Given the description of an element on the screen output the (x, y) to click on. 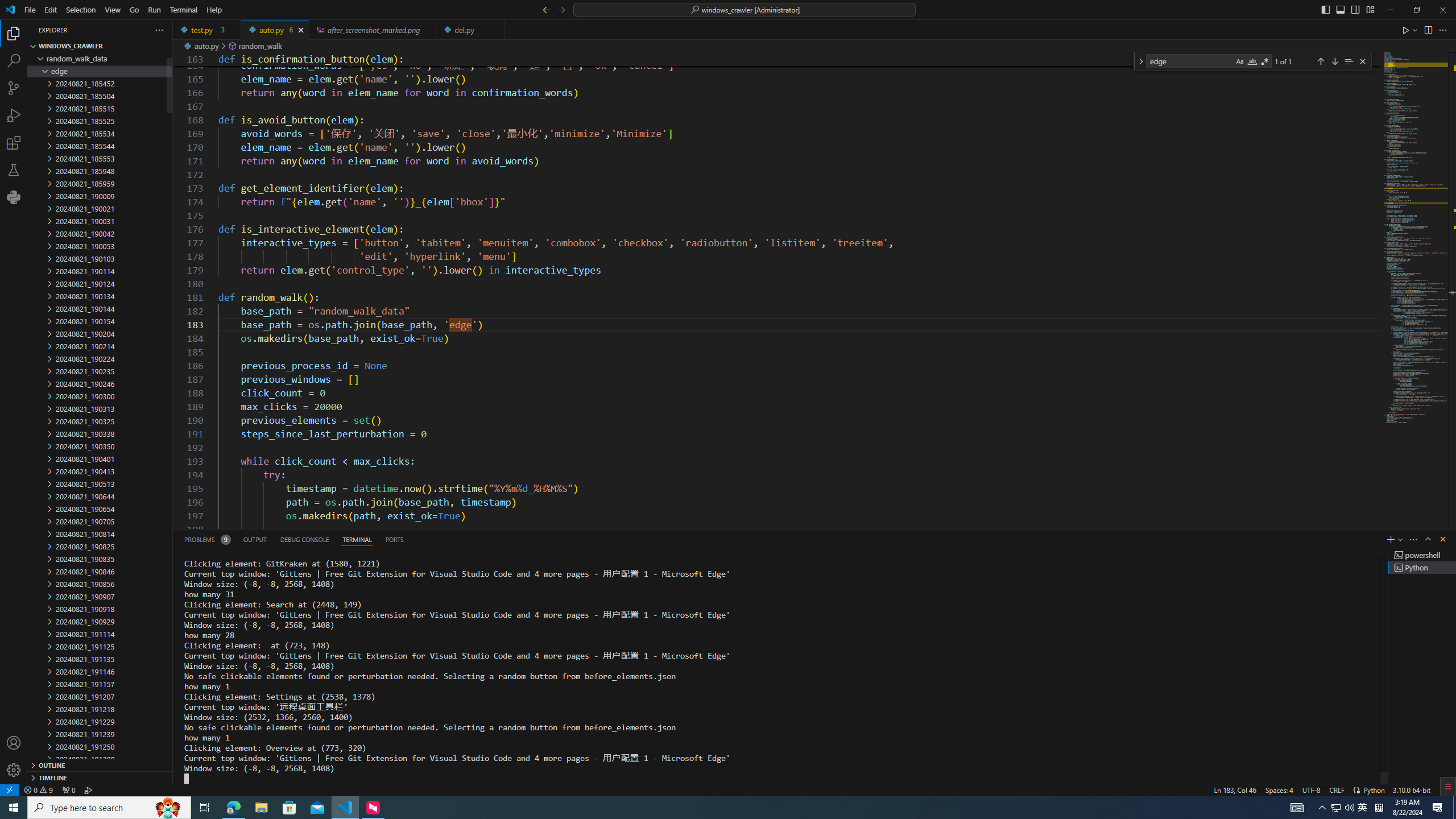
More Actions... (1442, 29)
Toggle Replace (1140, 61)
File (30, 9)
Views and More Actions... (1412, 539)
Editor actions (1425, 29)
Hide Panel (1442, 539)
Run (153, 9)
Terminal 1 powershell (1422, 554)
del.py (470, 29)
Ports (394, 539)
